Given the description of an element on the screen output the (x, y) to click on. 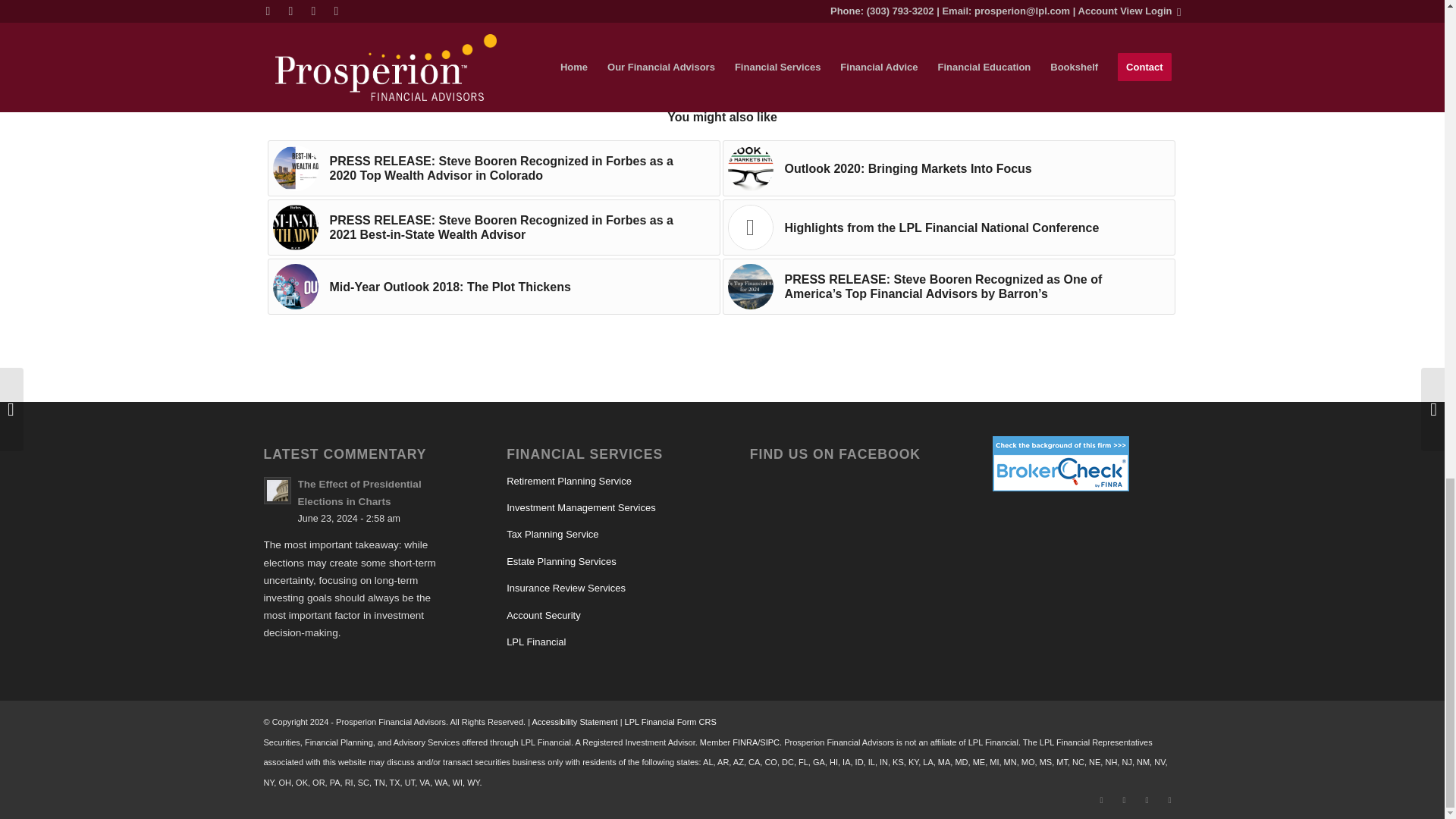
Outlook 2020: Bringing Markets Into Focus (948, 168)
steve-booren-forbes-top-advisor (295, 167)
